Given the description of an element on the screen output the (x, y) to click on. 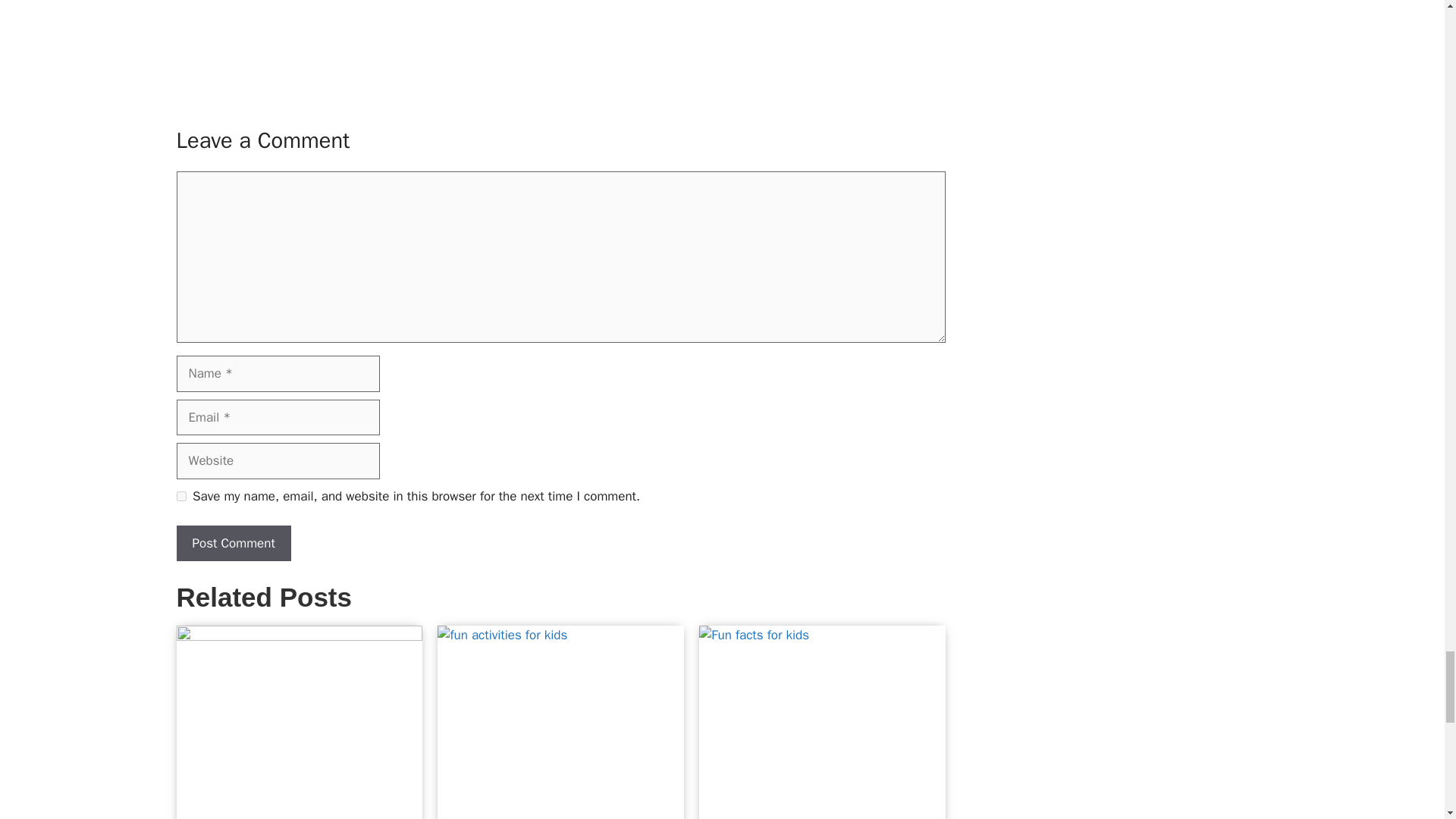
Post Comment (232, 543)
Post Comment (232, 543)
yes (181, 496)
